Given the description of an element on the screen output the (x, y) to click on. 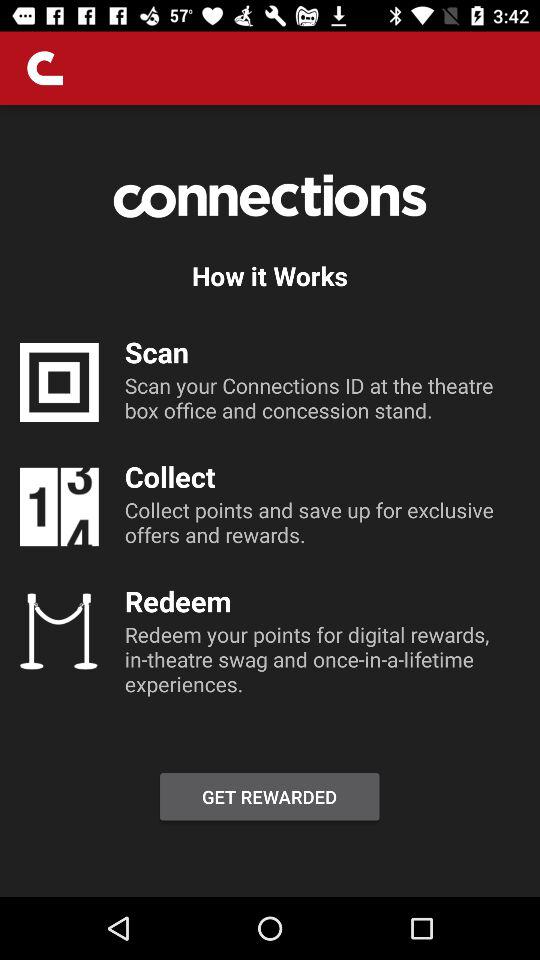
flip until get rewarded (269, 796)
